Given the description of an element on the screen output the (x, y) to click on. 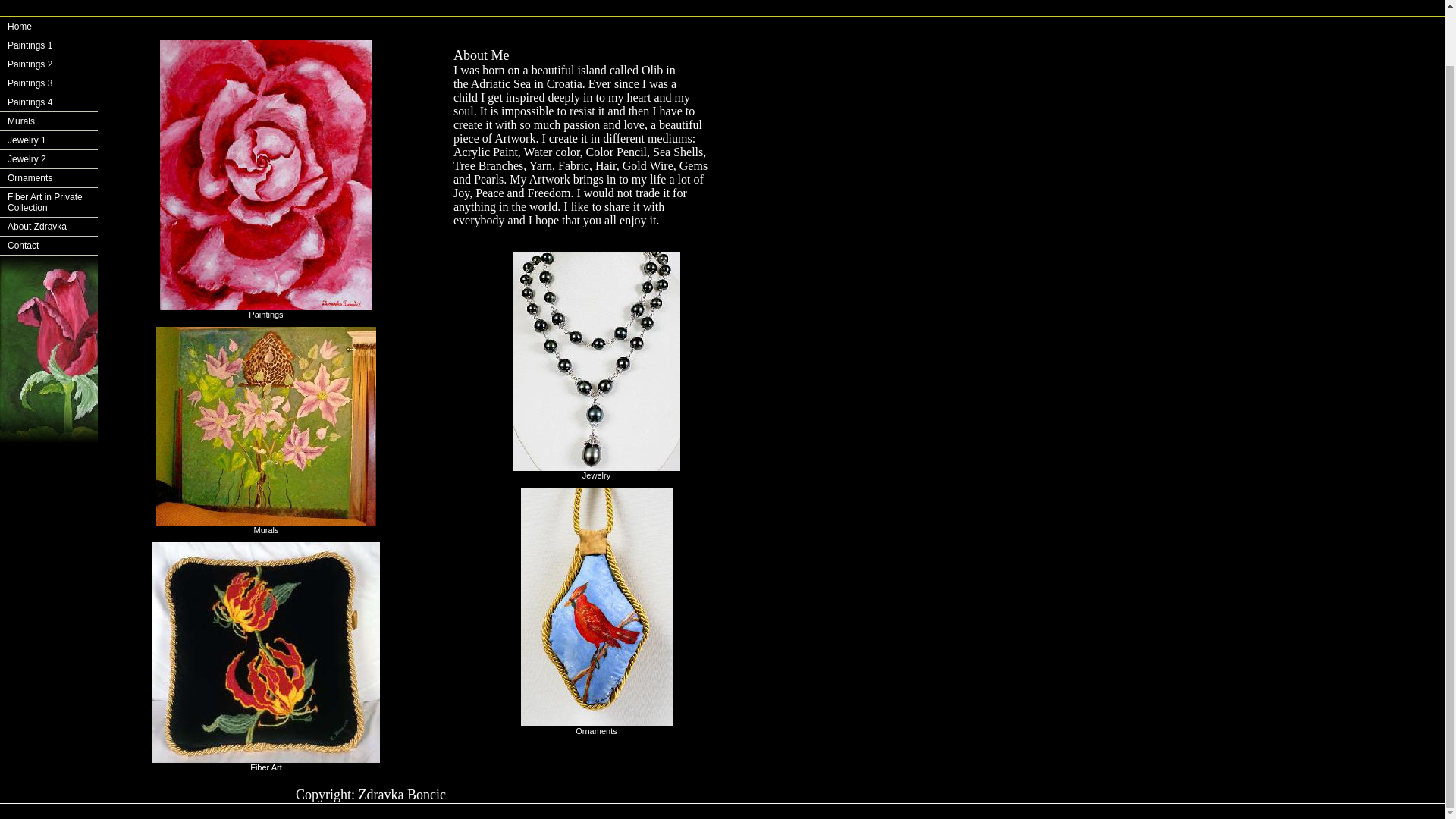
Paintings 1 (48, 45)
Fiber Art in Private Collection (48, 202)
Contact (48, 245)
Murals (48, 121)
Home (48, 26)
Paintings 3 (48, 83)
Paintings 4 (48, 102)
Jewelry 2 (48, 158)
Jewelry 1 (48, 140)
Paintings 2 (48, 64)
Ornaments (48, 178)
About Zdravka (48, 226)
